Given the description of an element on the screen output the (x, y) to click on. 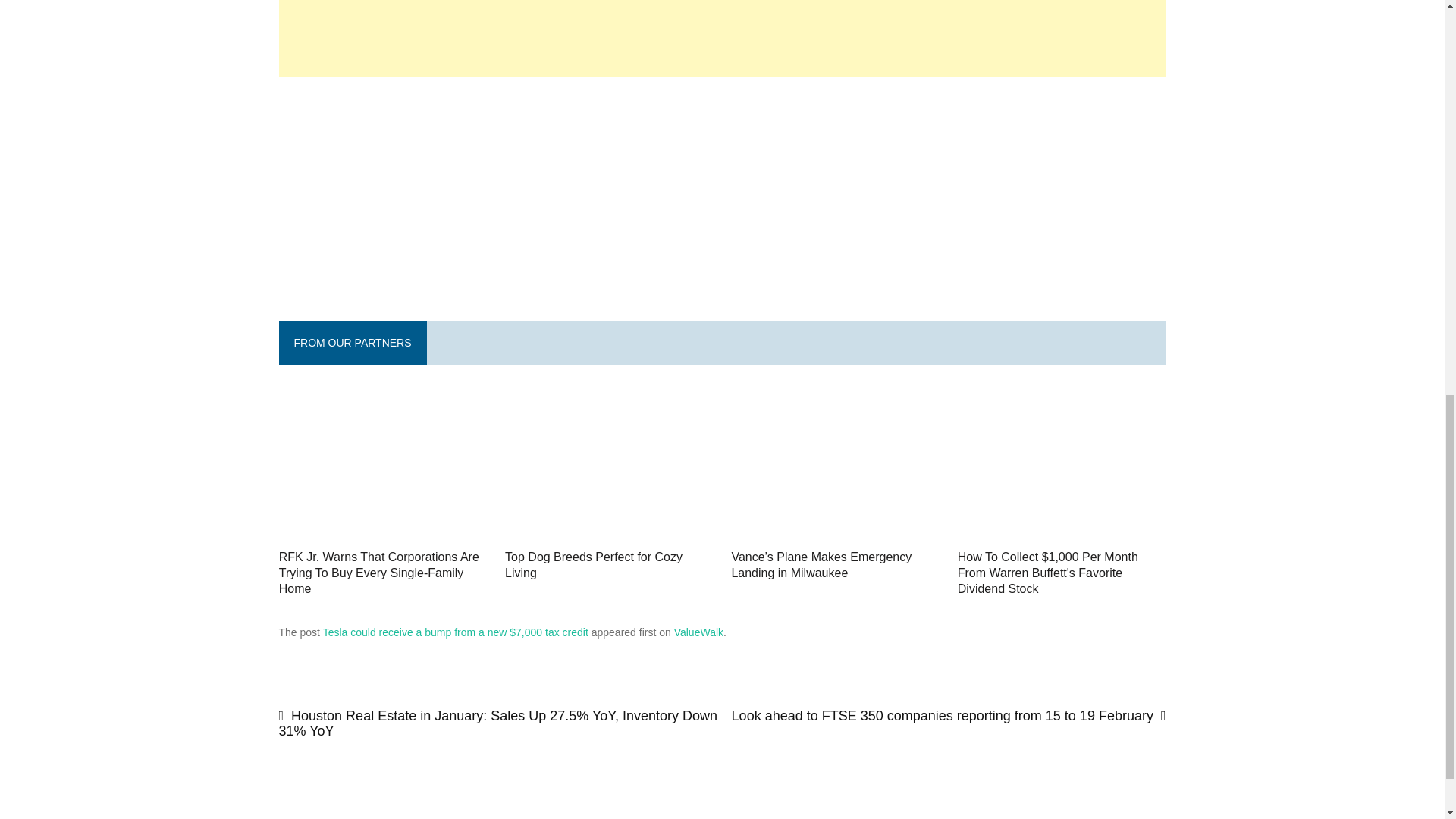
Top Dog Breeds Perfect for Cozy Living (609, 565)
ValueWalk (698, 632)
